Given the description of an element on the screen output the (x, y) to click on. 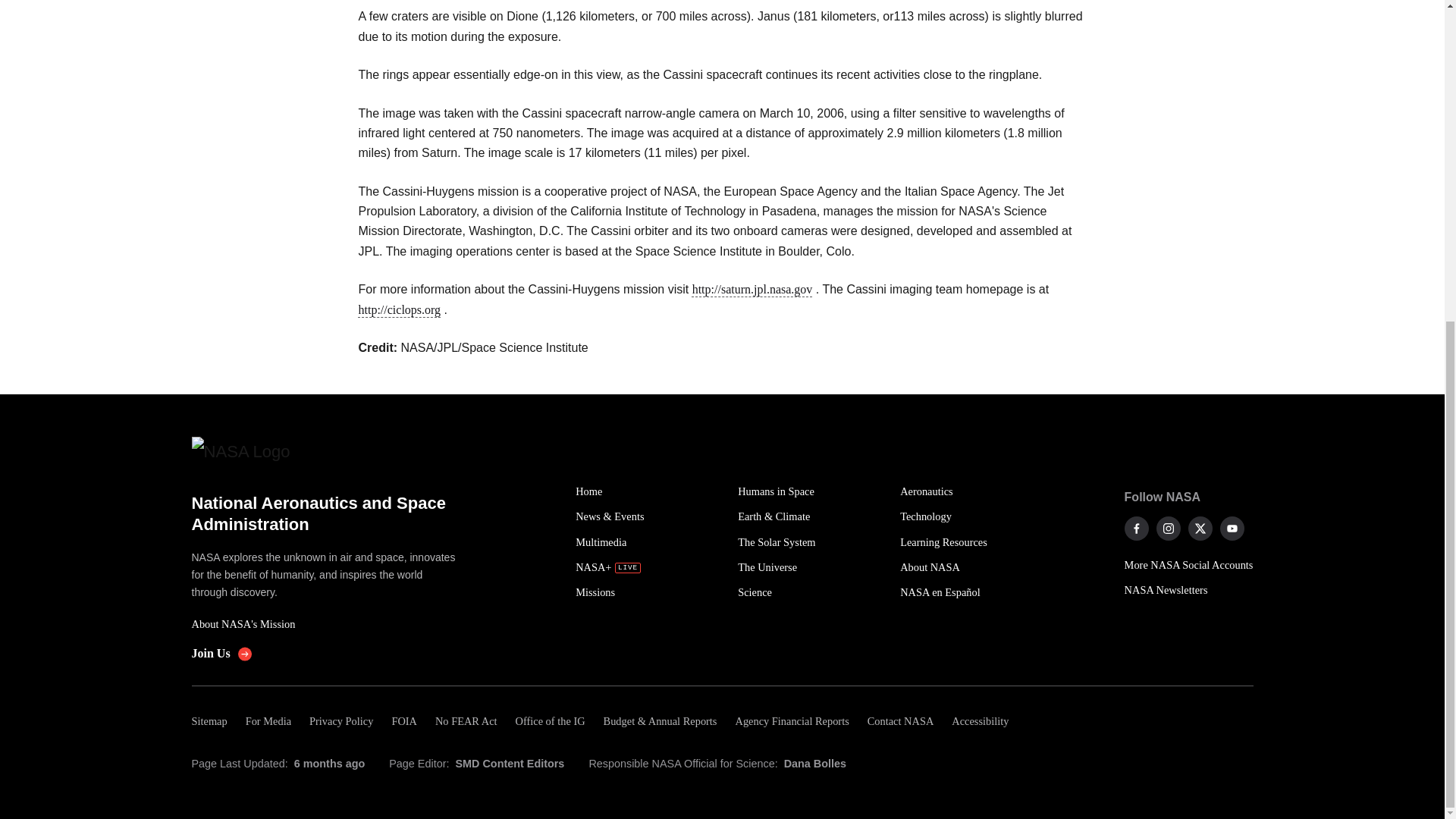
For Media (267, 721)
Agency Financial Reports (791, 721)
Accessibility (979, 721)
No FEAR Act (466, 721)
Office of the IG (550, 721)
Sitemap (212, 721)
Privacy Policy (340, 721)
FOIA (403, 721)
Contact NASA (901, 721)
